Given the description of an element on the screen output the (x, y) to click on. 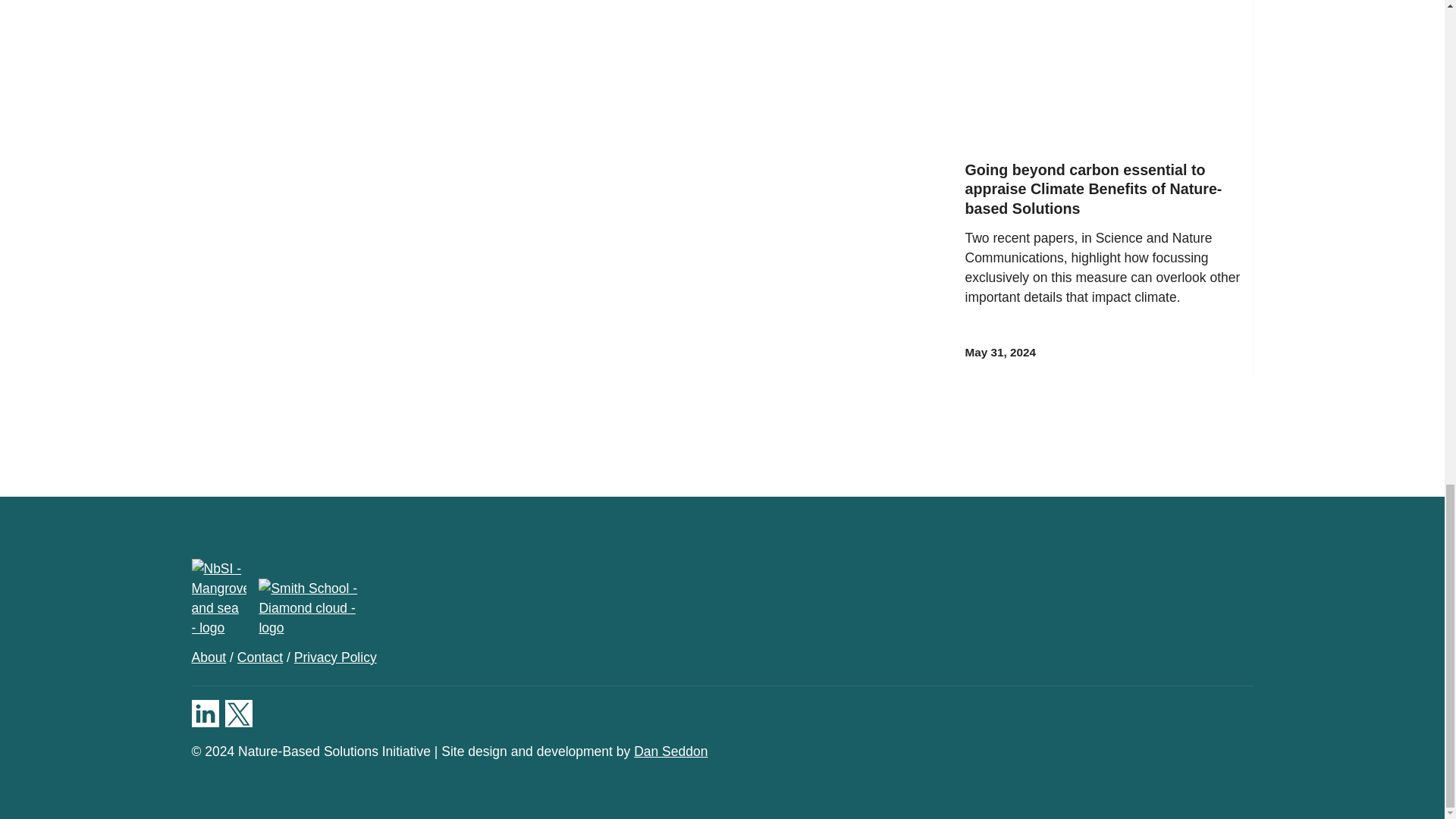
Go to Dan Seddon - FranklynJones Web Design (670, 751)
Post to Linked In (238, 2)
Post to X (272, 2)
LinedIn logo (204, 713)
X logo (238, 713)
Post to Facebook (204, 2)
Post to facebook (204, 2)
Post to X (272, 2)
Post to Linked In (238, 2)
